Given the description of an element on the screen output the (x, y) to click on. 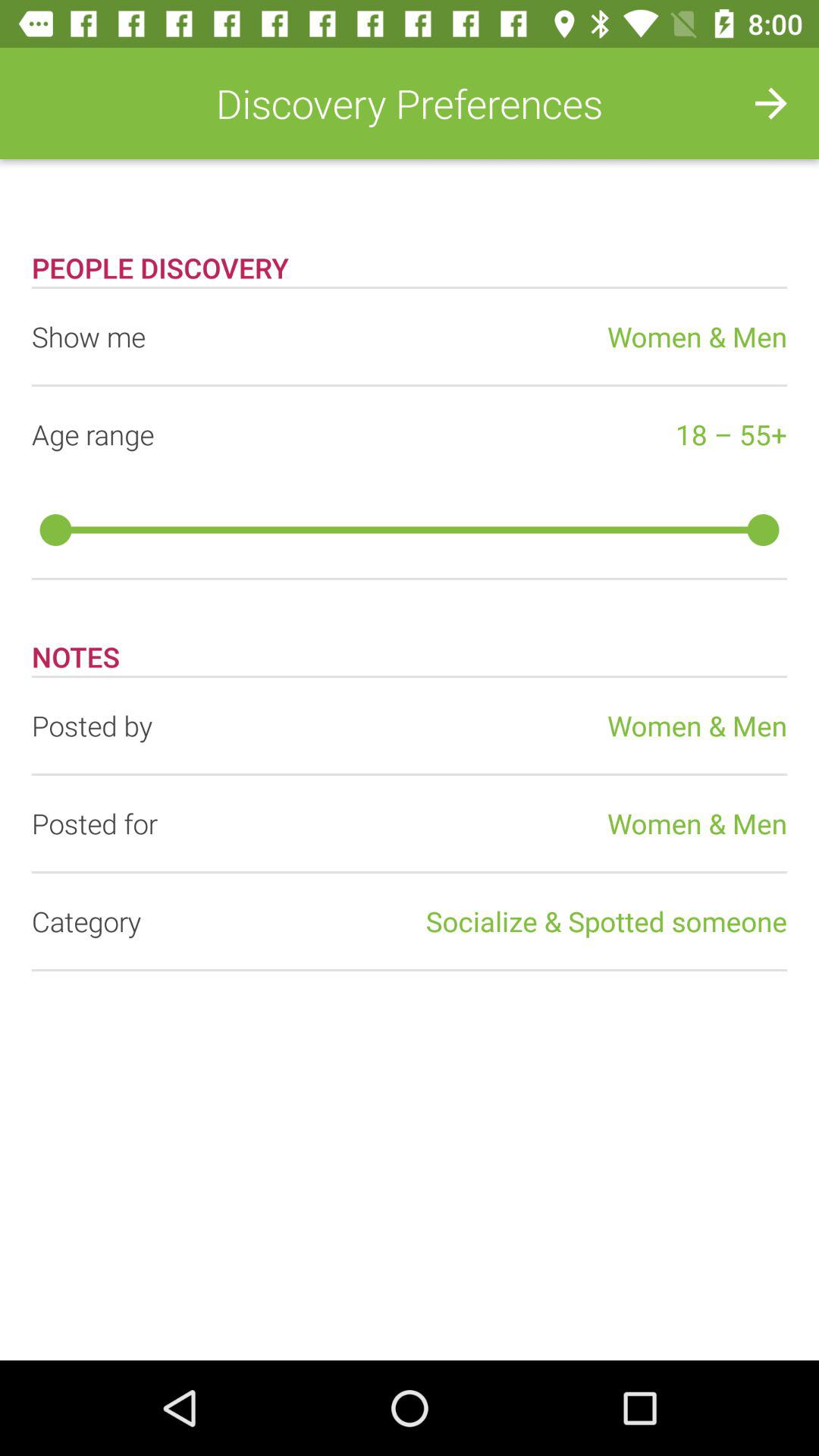
turn off item next to the discovery preferences item (771, 103)
